Given the description of an element on the screen output the (x, y) to click on. 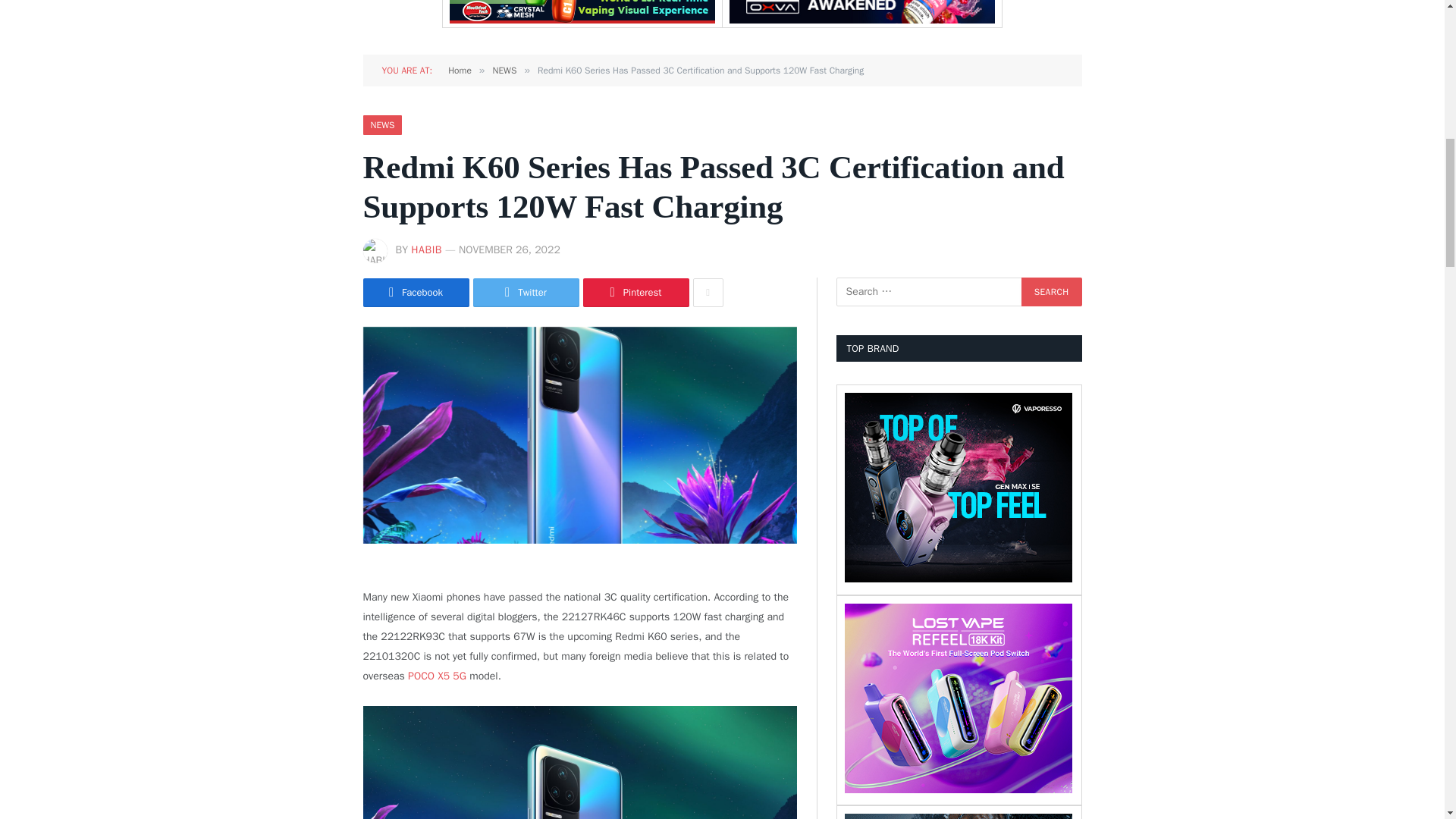
Search (1051, 291)
Share on Twitter (526, 292)
Posts by Habib (426, 249)
Share on Facebook (415, 292)
Share on Pinterest (635, 292)
Show More Social Sharing (708, 292)
Search (1051, 291)
